Given the description of an element on the screen output the (x, y) to click on. 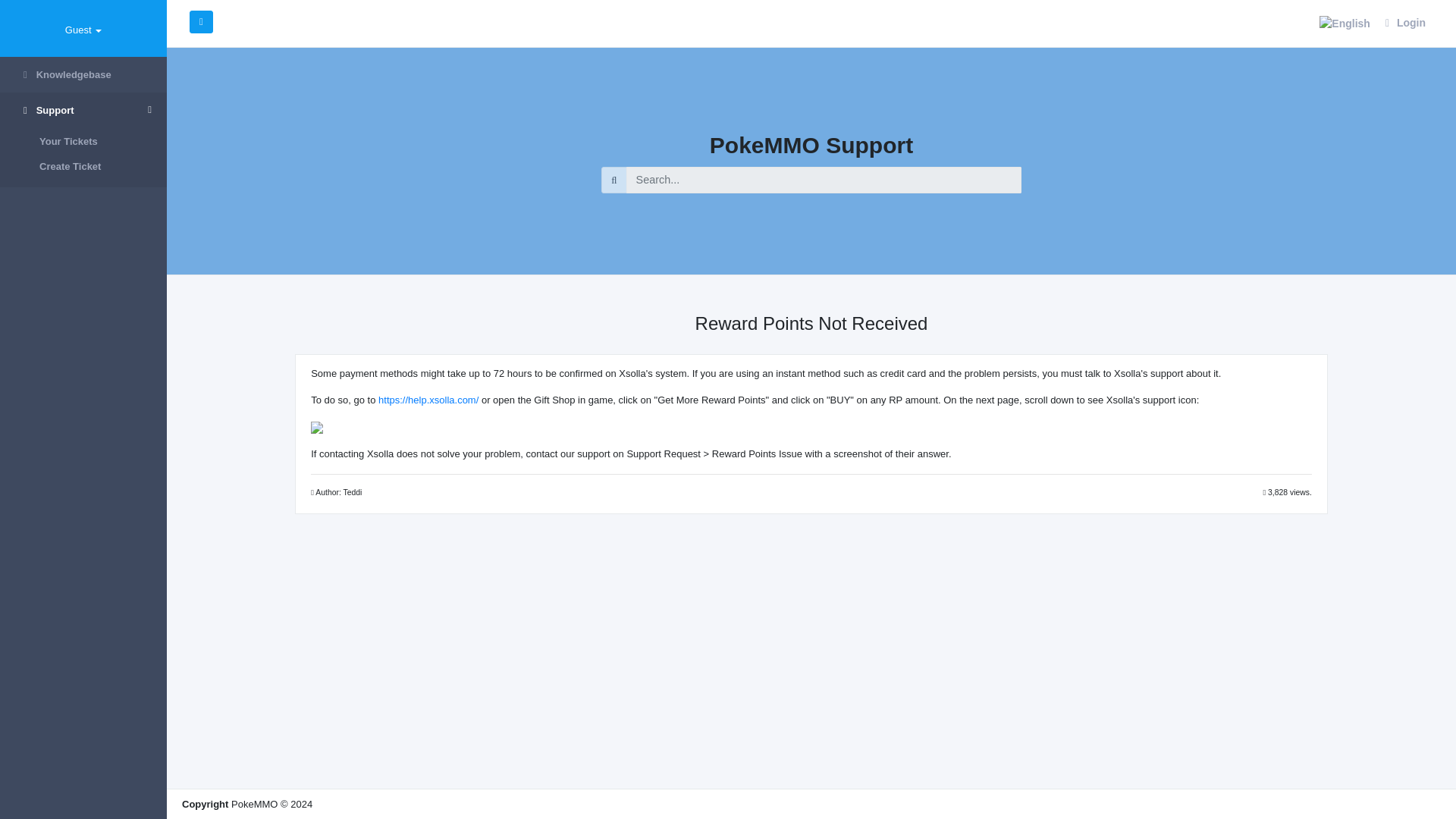
Create Ticket (83, 166)
Support (83, 110)
Guest (83, 29)
Login (1404, 22)
Your Tickets (83, 141)
Knowledgebase (83, 74)
